Given the description of an element on the screen output the (x, y) to click on. 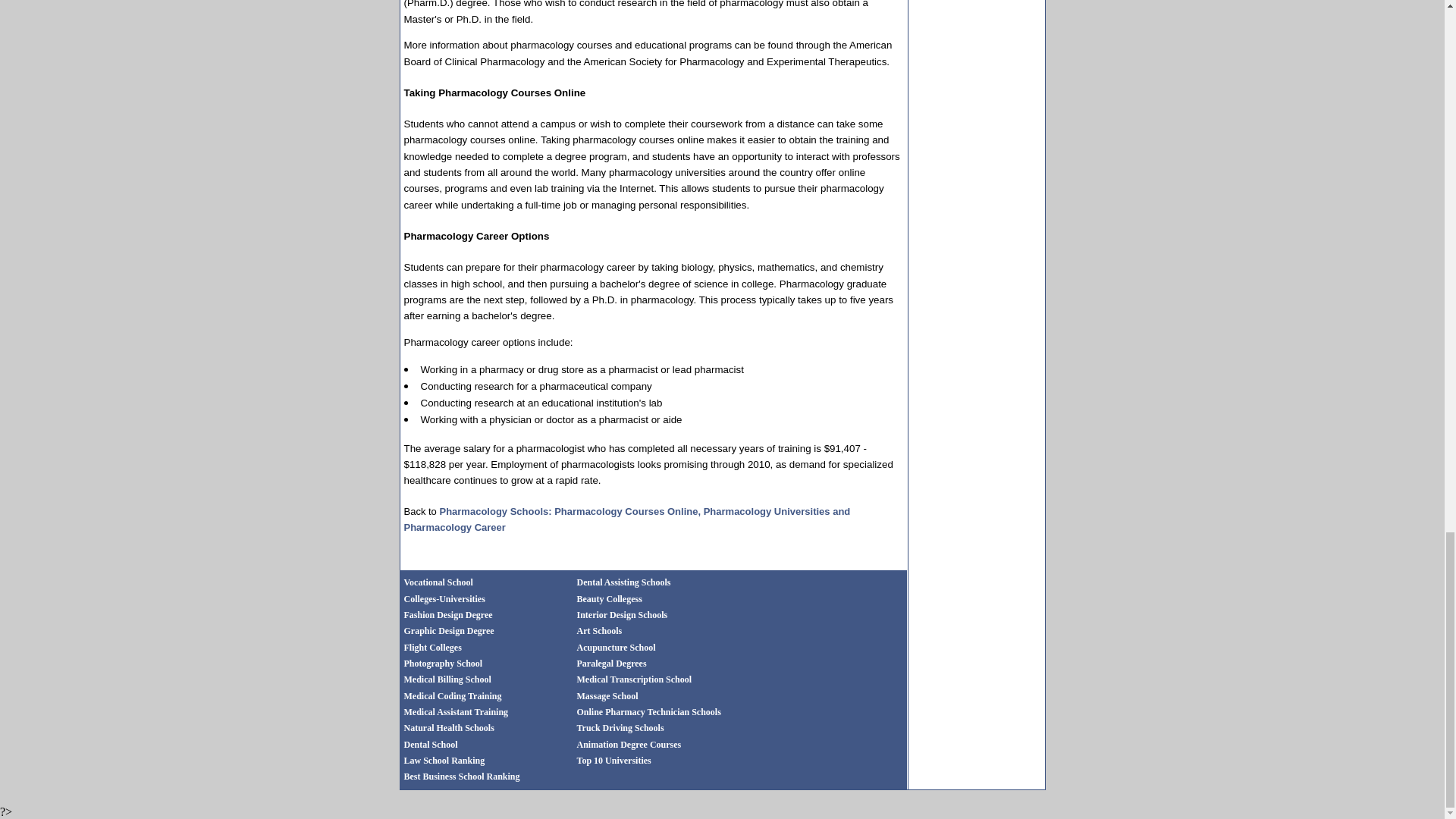
Truck Driving Schools (619, 727)
Top 10 Universities (613, 758)
Acupuncture School (615, 647)
Law School Ranking (443, 760)
Interior Design Schools (621, 614)
Graphic Design Degree (448, 630)
Dental School (430, 743)
Medical Transcription School (633, 679)
Vocational School (437, 581)
Beauty Colleges (607, 598)
Medical Billing School (446, 679)
Animation Degree Courses (628, 743)
Best Business School Ranking (461, 775)
Flight Colleges (432, 647)
Paralegal Degrees (611, 663)
